Given the description of an element on the screen output the (x, y) to click on. 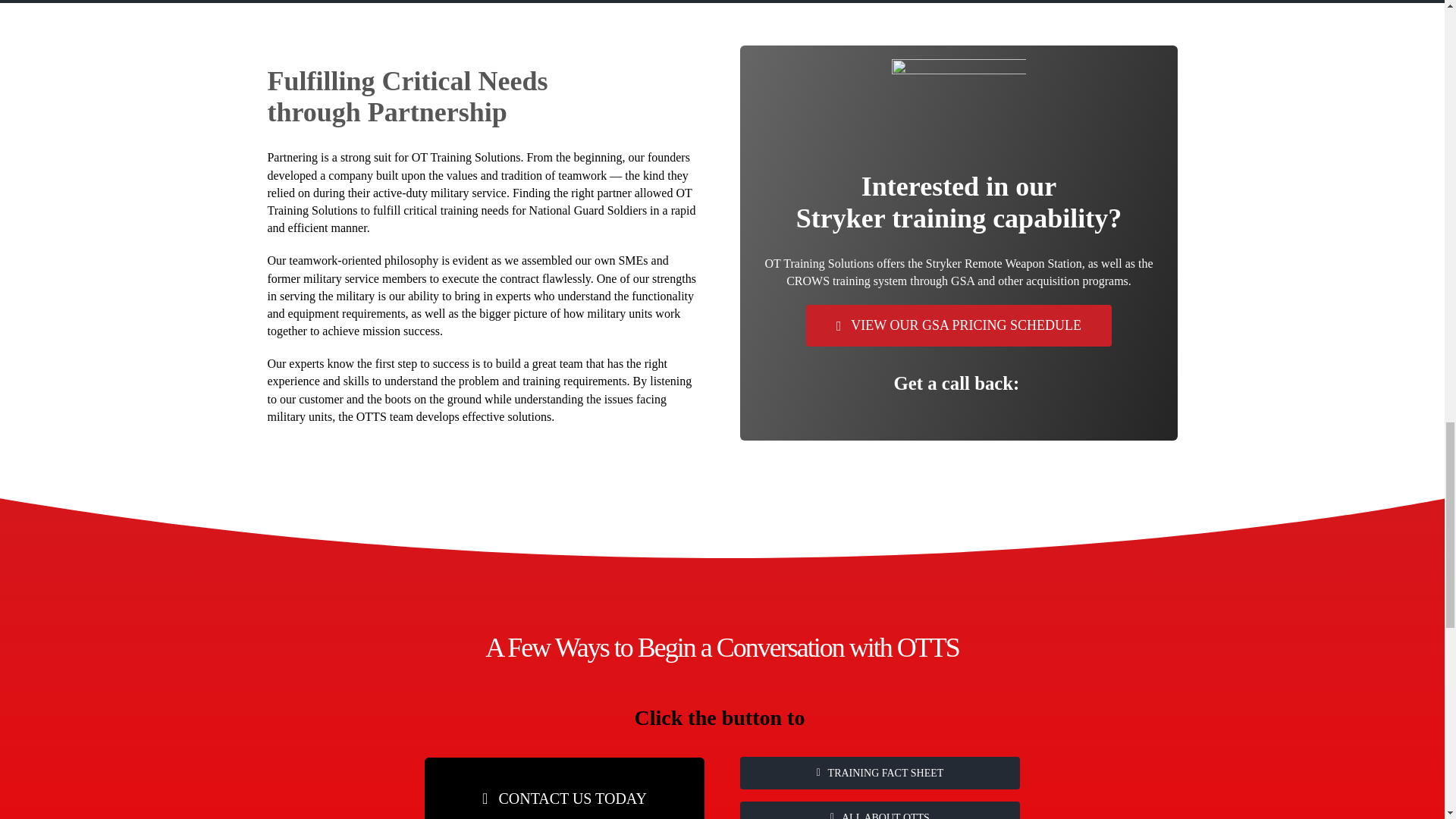
GSA-Mayvin (958, 104)
ALL ABOUT OTTS (879, 810)
VIEW OUR GSA PRICING SCHEDULE (959, 325)
CONTACT US TODAY (564, 788)
TRAINING FACT SHEET (879, 772)
